Given the description of an element on the screen output the (x, y) to click on. 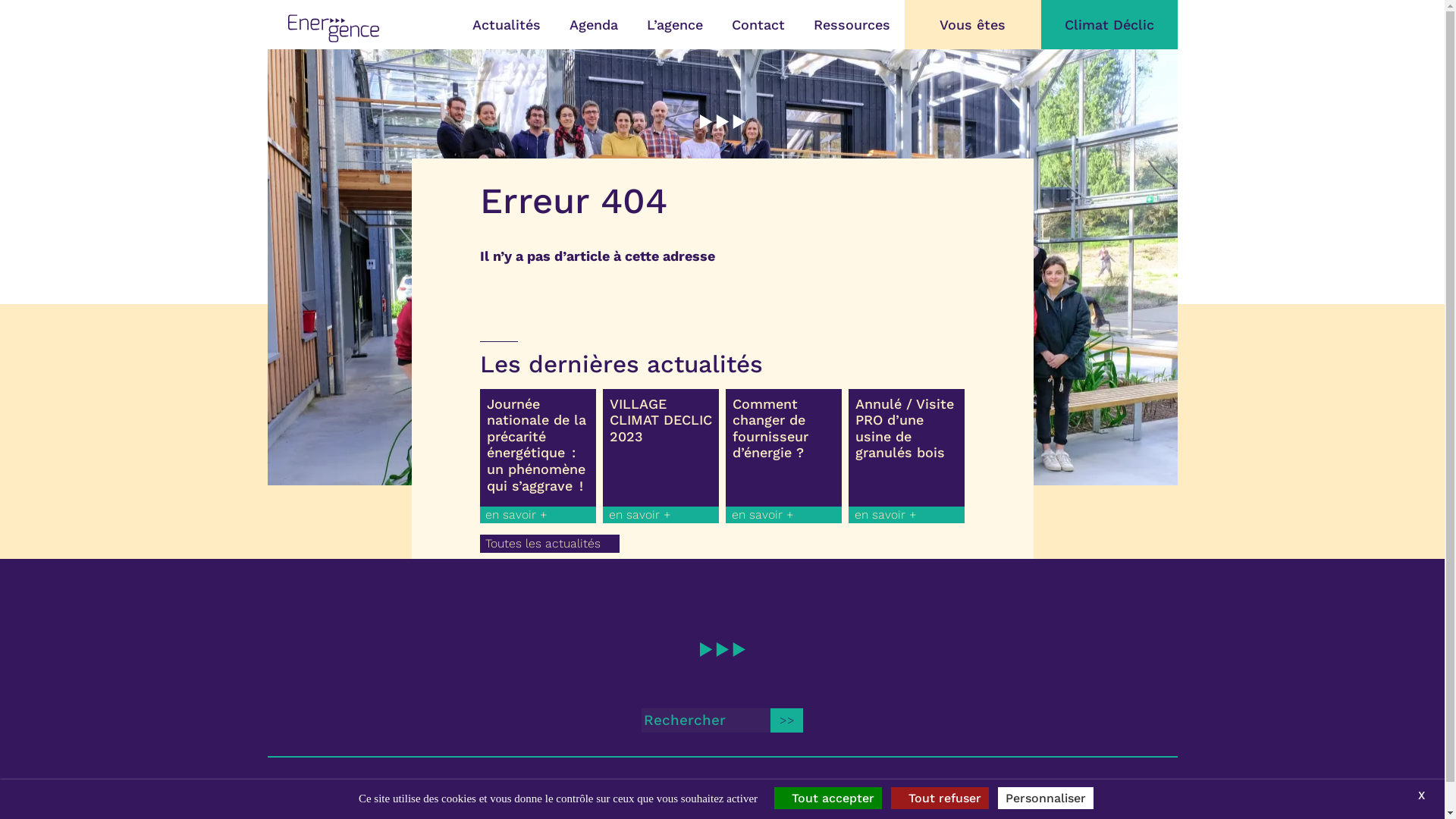
>> Element type: text (786, 720)
Tout refuser Element type: text (939, 798)
VILLAGE CLIMAT DECLIC 2023
en savoir + Element type: text (660, 456)
Se connecter Element type: text (837, 790)
Tout accepter Element type: text (827, 798)
Ressources Element type: text (851, 24)
Agenda Element type: text (593, 24)
Accueil Element type: text (293, 790)
Contact Element type: text (407, 790)
Rechercher Element type: hover (786, 720)
Contact Element type: text (758, 24)
Plan du site Element type: text (697, 790)
Personnaliser Element type: text (1045, 798)
